Given the description of an element on the screen output the (x, y) to click on. 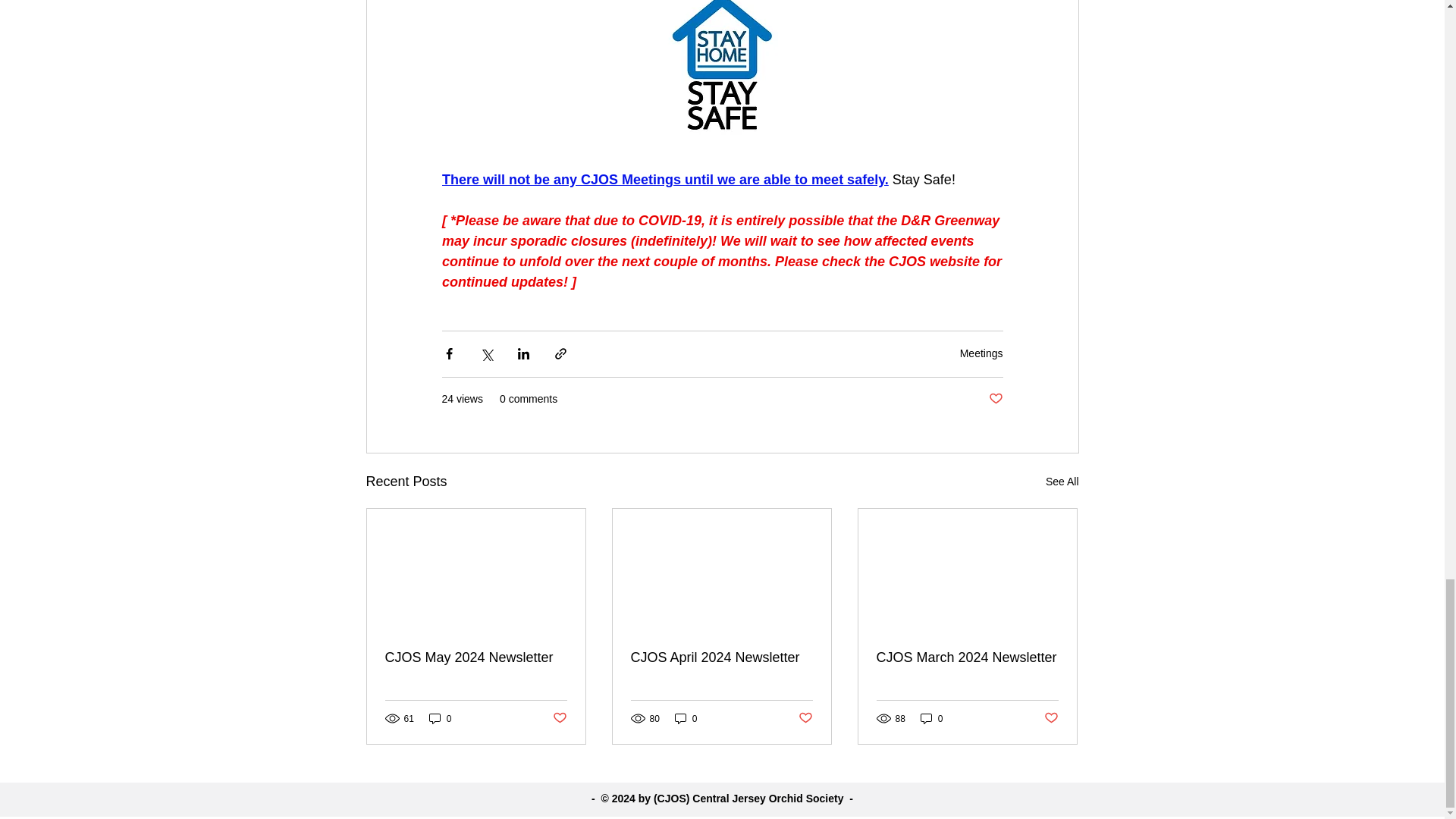
See All (1061, 481)
CJOS April 2024 Newsletter (721, 657)
Post not marked as liked (995, 399)
CJOS May 2024 Newsletter (476, 657)
Post not marked as liked (558, 718)
0 (440, 718)
Meetings (981, 353)
